Given the description of an element on the screen output the (x, y) to click on. 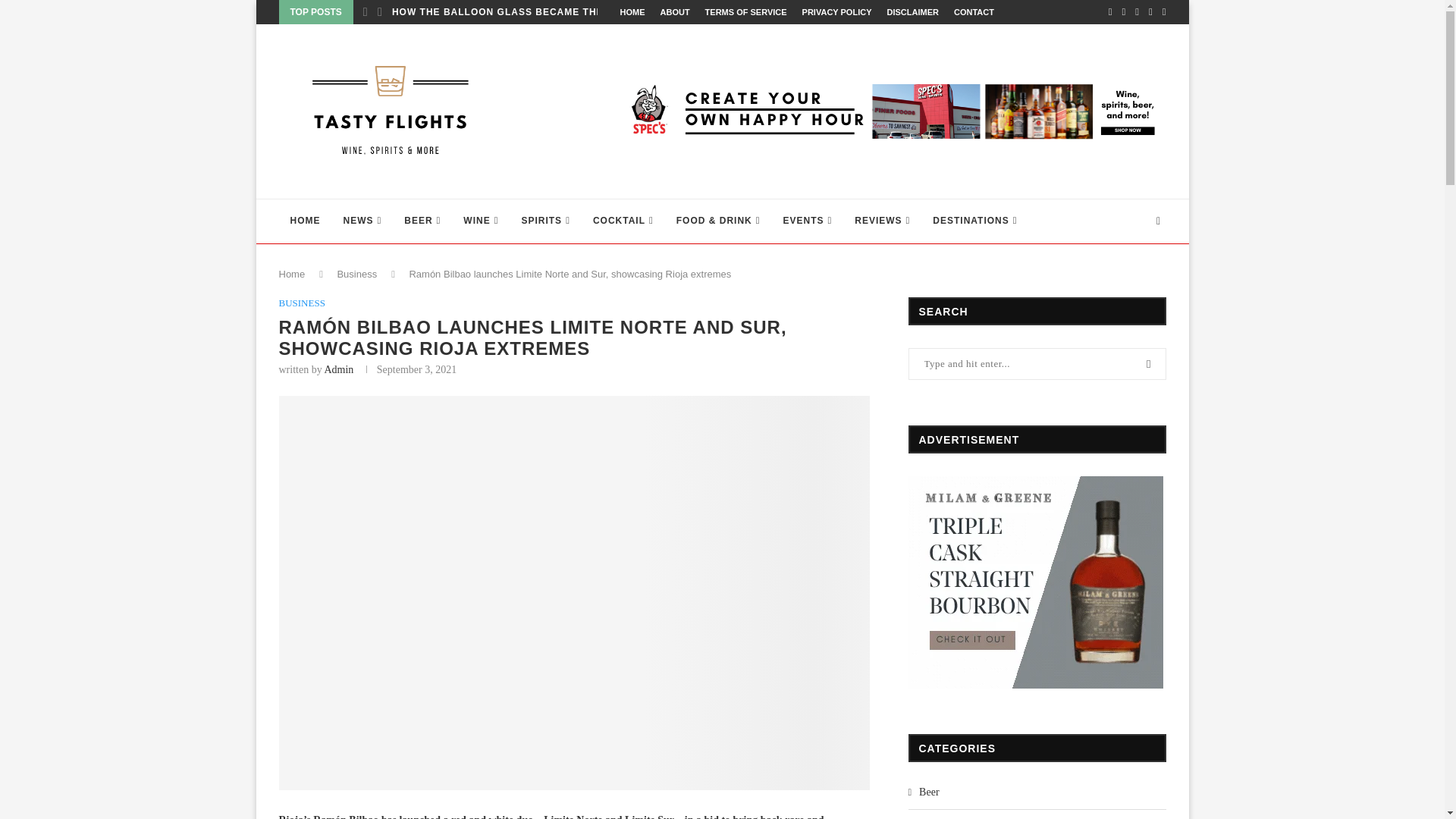
CONTACT (973, 12)
ABOUT (673, 12)
PRIVACY POLICY (837, 12)
TERMS OF SERVICE (745, 12)
HOME (632, 12)
DISCLAIMER (911, 12)
HOW THE BALLOON GLASS BECAME THE GO-TO GIN... (531, 12)
NEWS (362, 221)
HOME (305, 221)
